Given the description of an element on the screen output the (x, y) to click on. 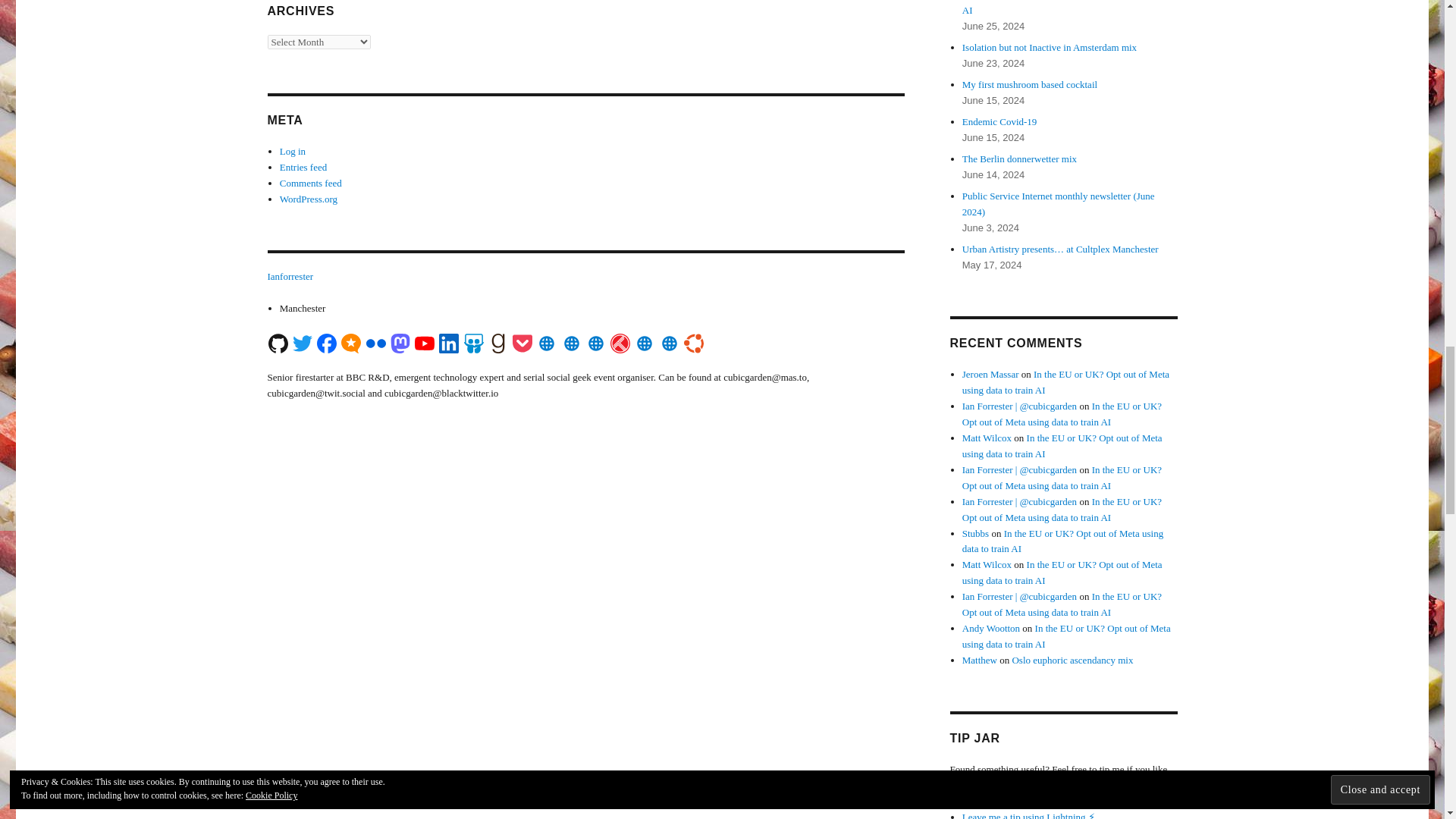
SlideShare (473, 342)
LinkedIn (448, 342)
GitHub (277, 342)
Comments feed (310, 183)
Log in (292, 151)
Mastodon (400, 342)
Ubuntu (693, 342)
Goodreads (497, 342)
Micro.blog (350, 342)
Flickr (375, 342)
